Given the description of an element on the screen output the (x, y) to click on. 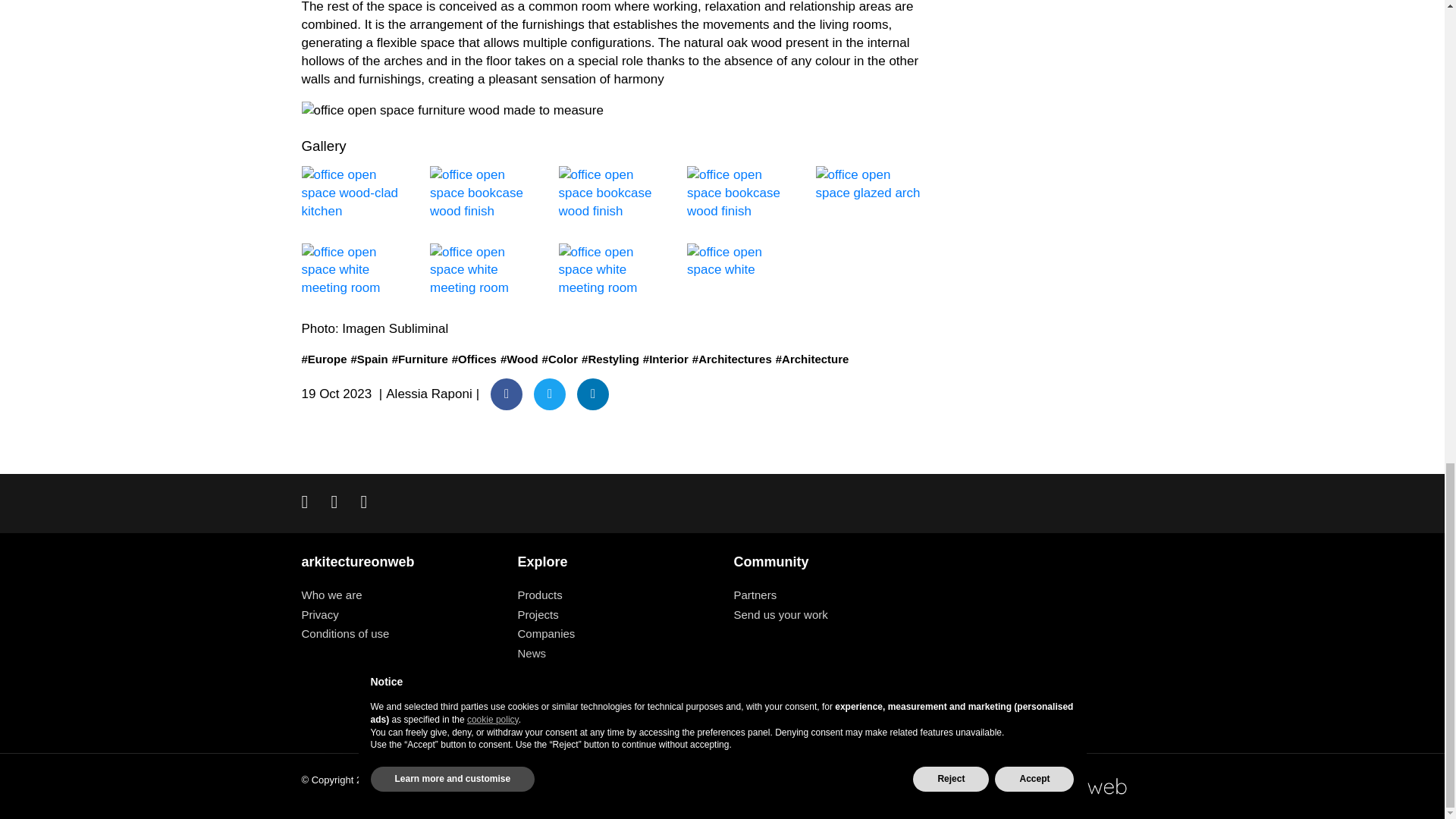
Who we are (331, 594)
Privacy (320, 614)
Conditions of use (345, 633)
